Given the description of an element on the screen output the (x, y) to click on. 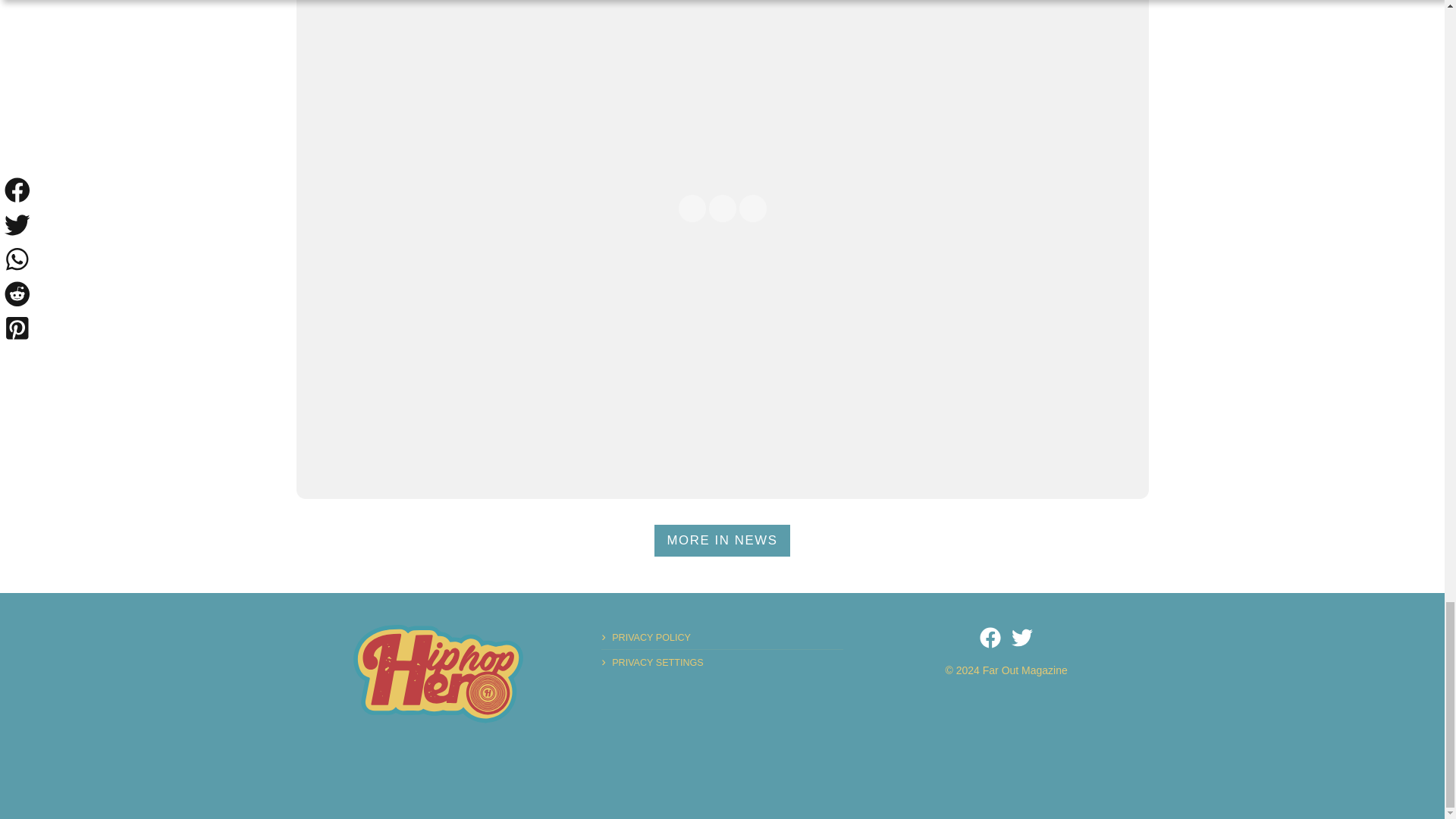
Hip Hop Hero on Twitter (1021, 637)
Hip Hop Hero (438, 673)
Hip Hop Hero on Facebook (990, 637)
More in News (721, 540)
